Given the description of an element on the screen output the (x, y) to click on. 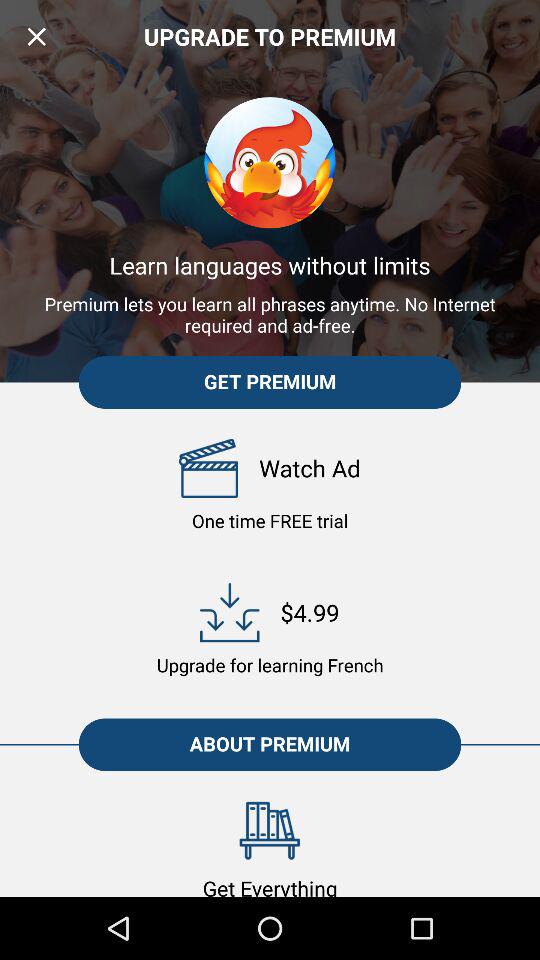
turn on the icon at the top left corner (36, 36)
